Given the description of an element on the screen output the (x, y) to click on. 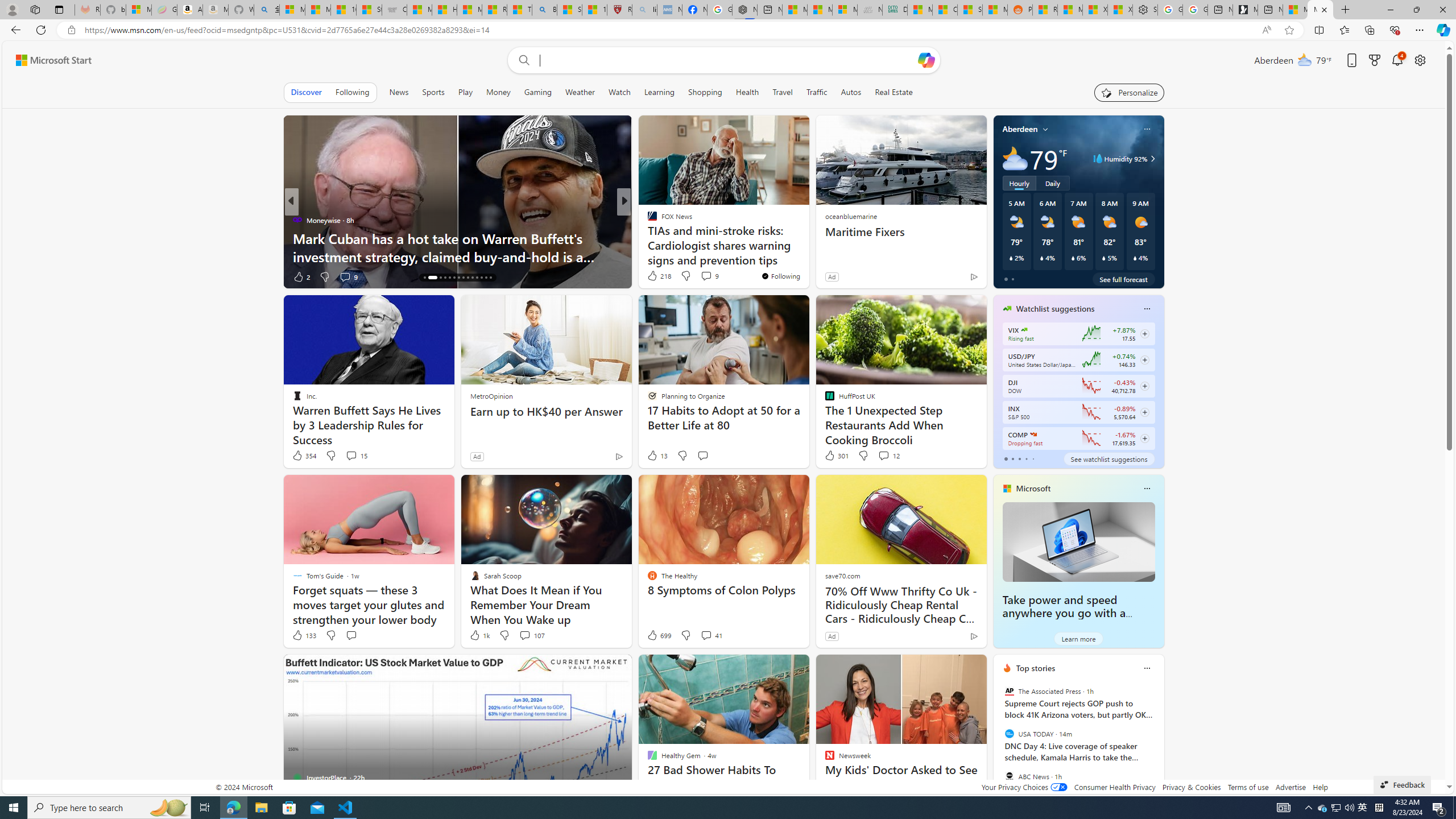
previous (998, 741)
The Mirror US (647, 219)
133 Like (303, 634)
AutomationID: tab-19 (449, 277)
View comments 9 Comment (709, 275)
354 Like (303, 455)
